Given the description of an element on the screen output the (x, y) to click on. 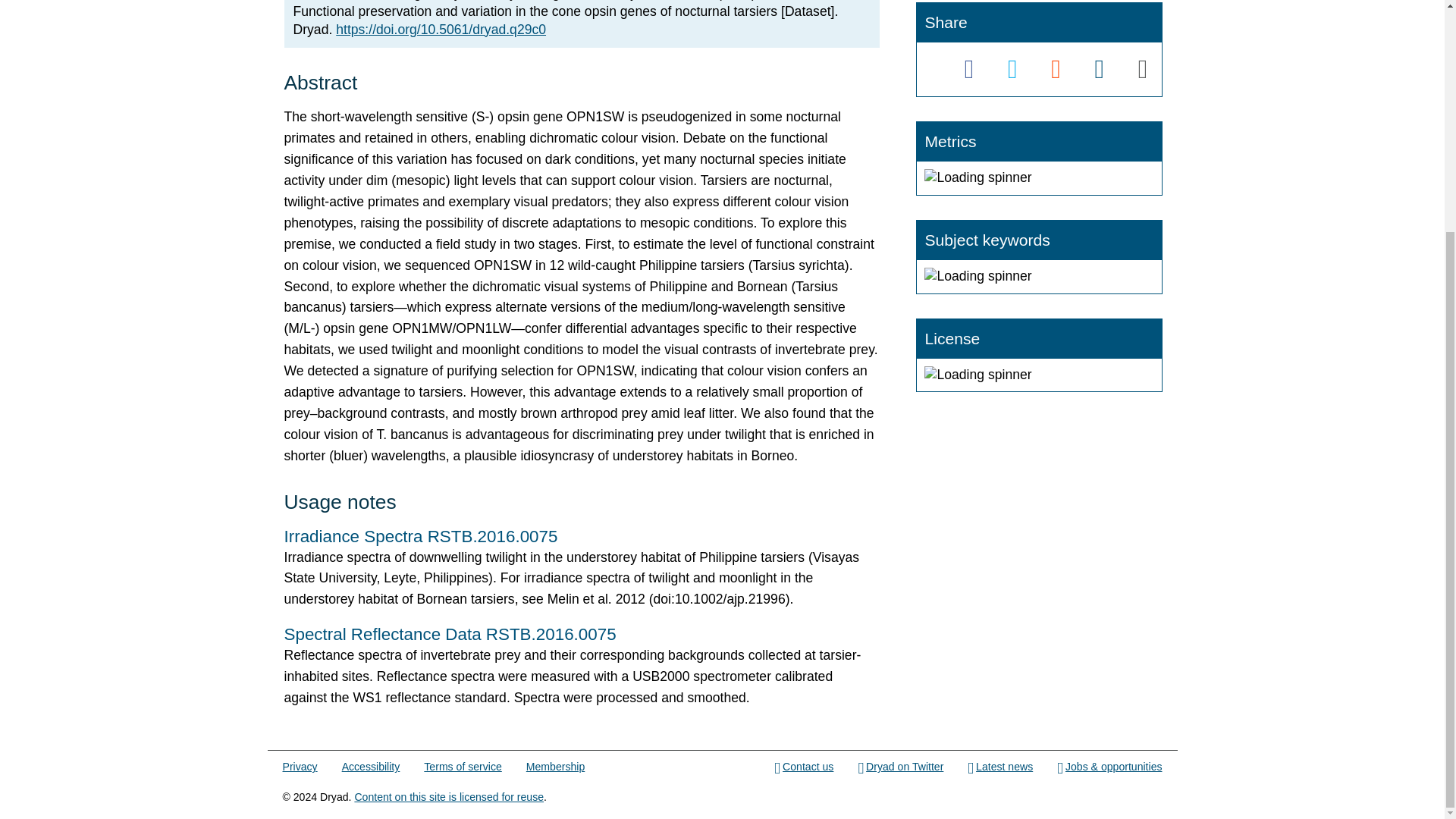
Membership (555, 767)
Privacy (299, 767)
Contact us (803, 767)
Terms of service (461, 767)
Accessibility (371, 767)
Content on this site is licensed for reuse (448, 797)
